Given the description of an element on the screen output the (x, y) to click on. 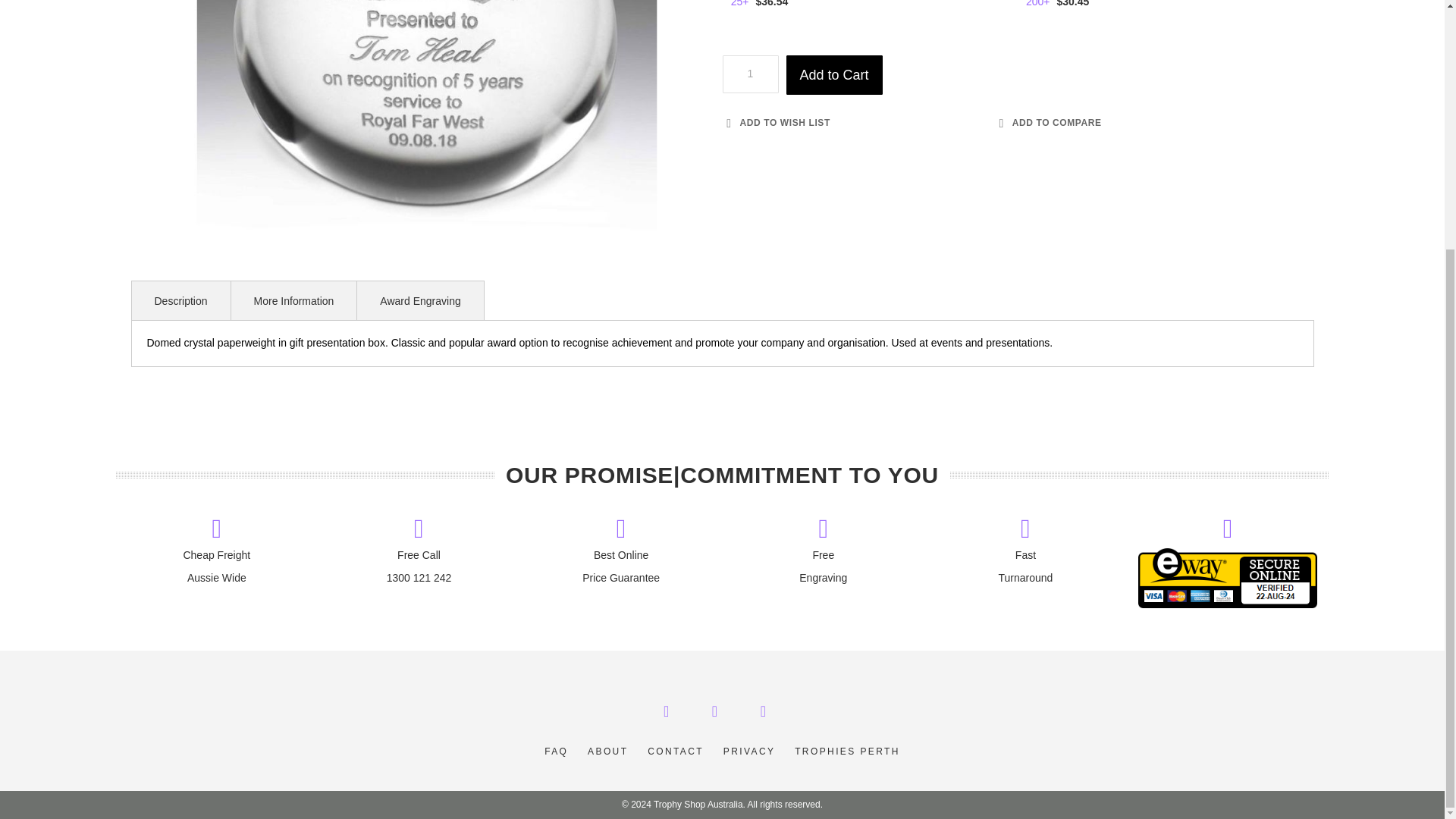
eWAY Payment Gateway (1227, 604)
1 (749, 74)
Qty (749, 74)
Add to Cart (834, 75)
